Given the description of an element on the screen output the (x, y) to click on. 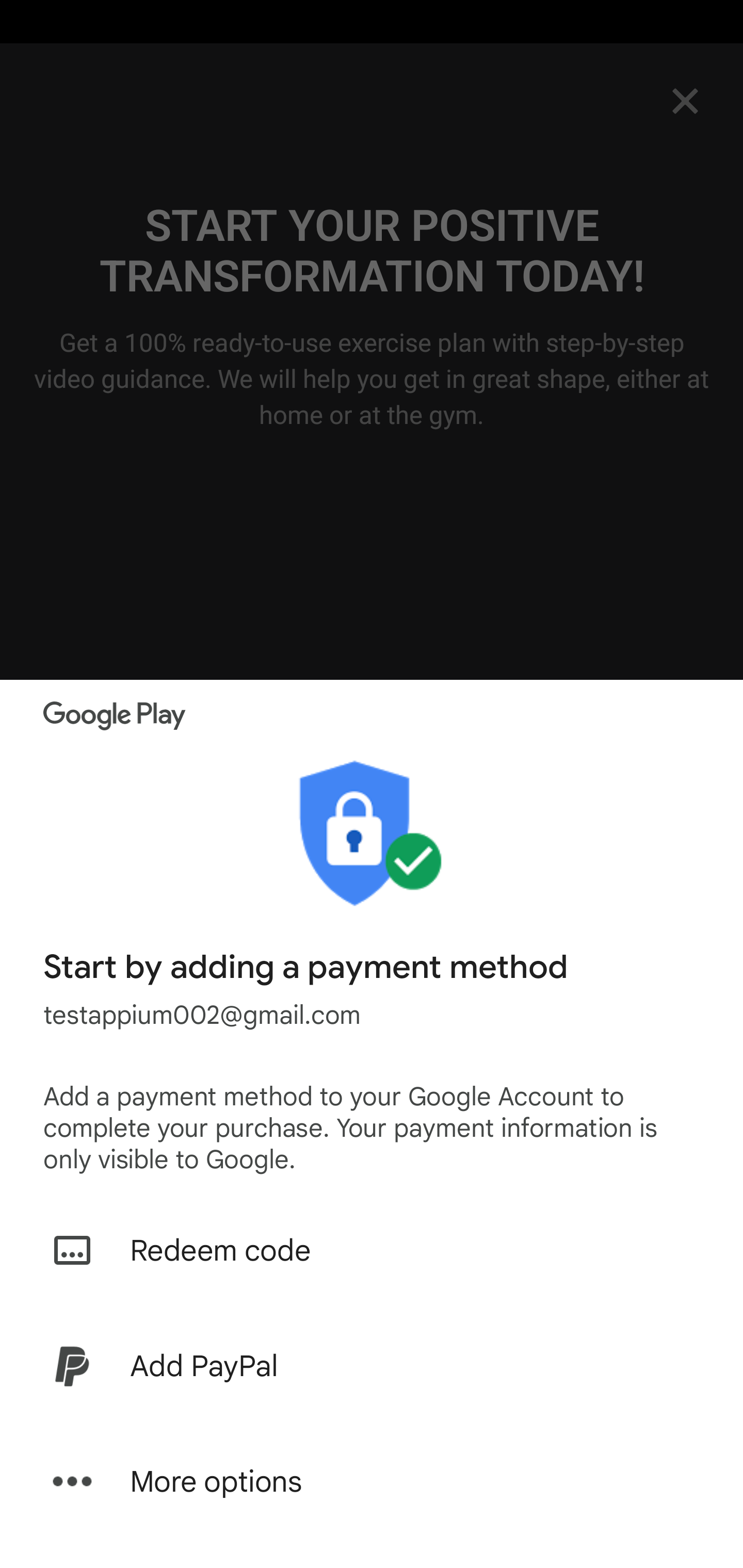
Redeem code (371, 1250)
Add PayPal (371, 1365)
More options (371, 1481)
